Given the description of an element on the screen output the (x, y) to click on. 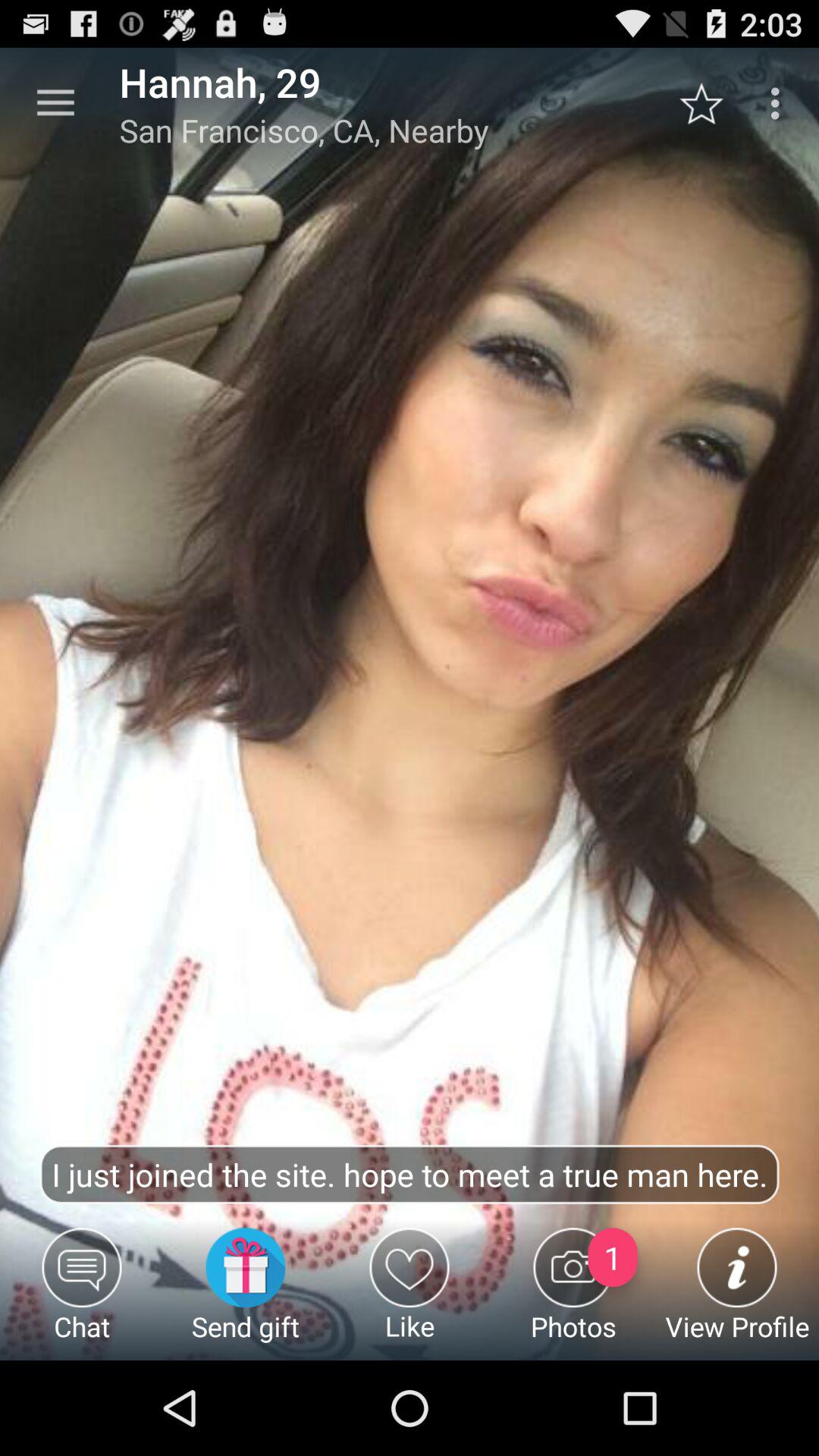
launch icon to the right of photos icon (737, 1293)
